Given the description of an element on the screen output the (x, y) to click on. 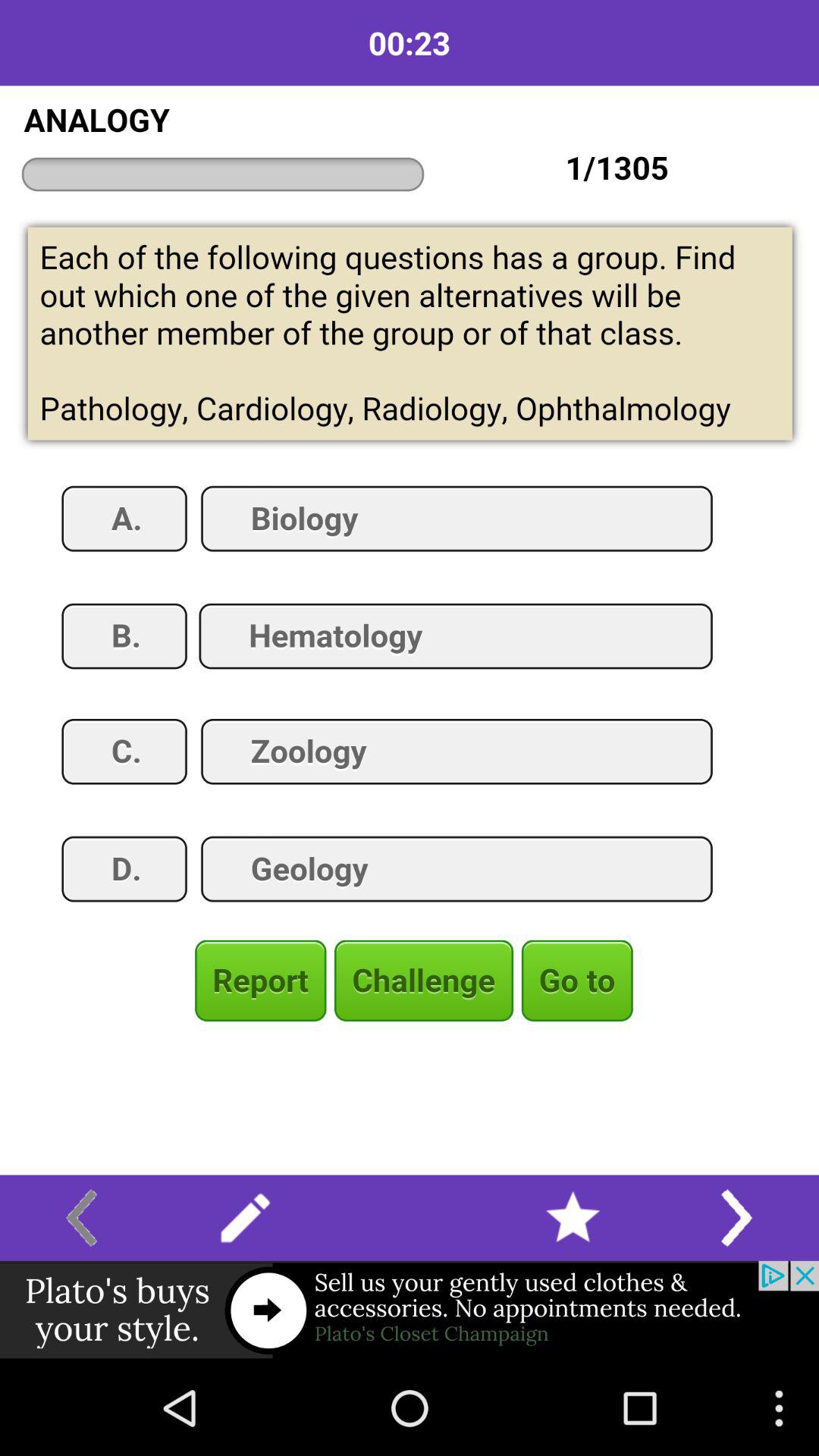
go to previous page (81, 1217)
